Given the description of an element on the screen output the (x, y) to click on. 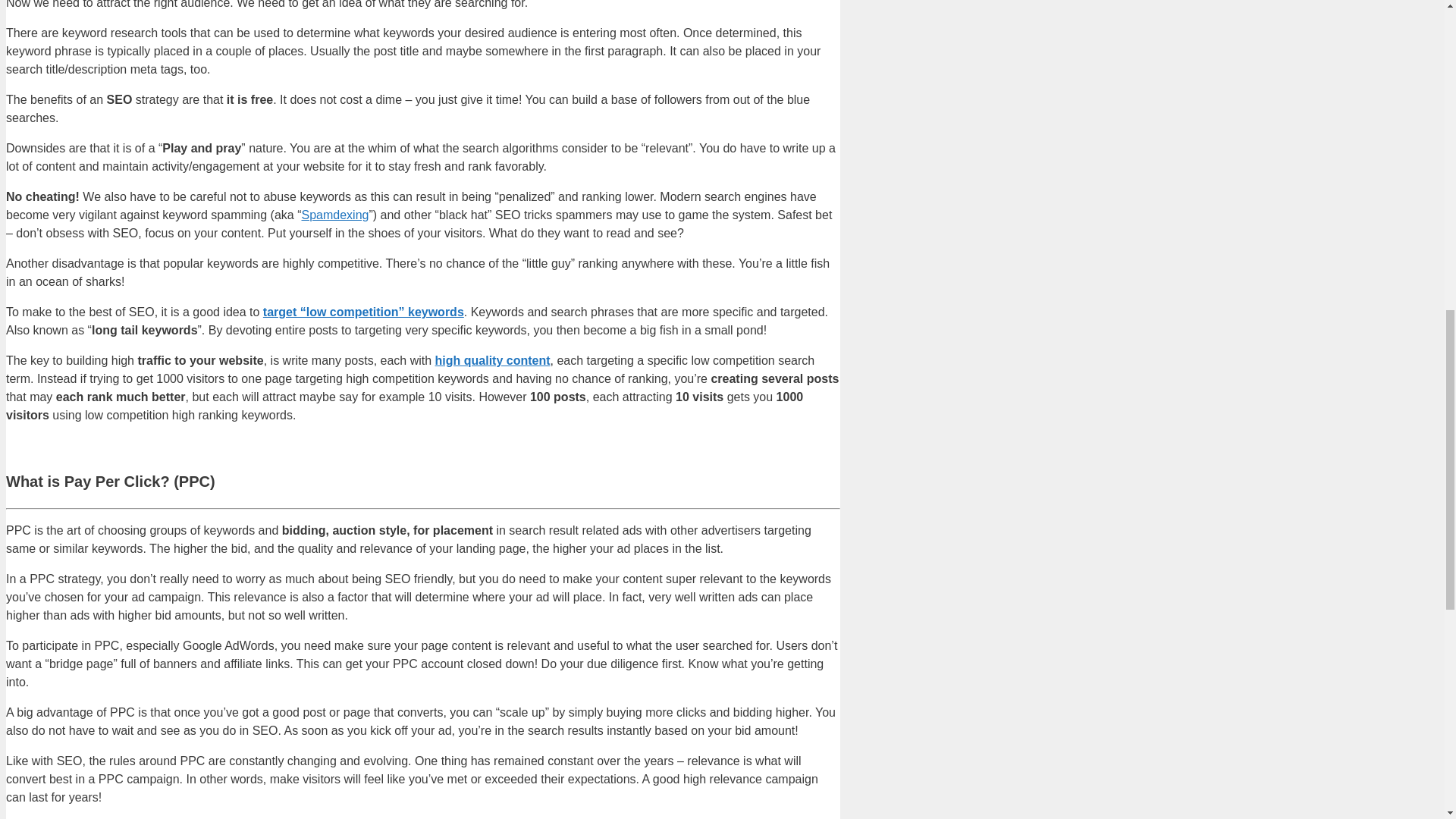
high quality content (492, 359)
Spamdexing (335, 214)
